Given the description of an element on the screen output the (x, y) to click on. 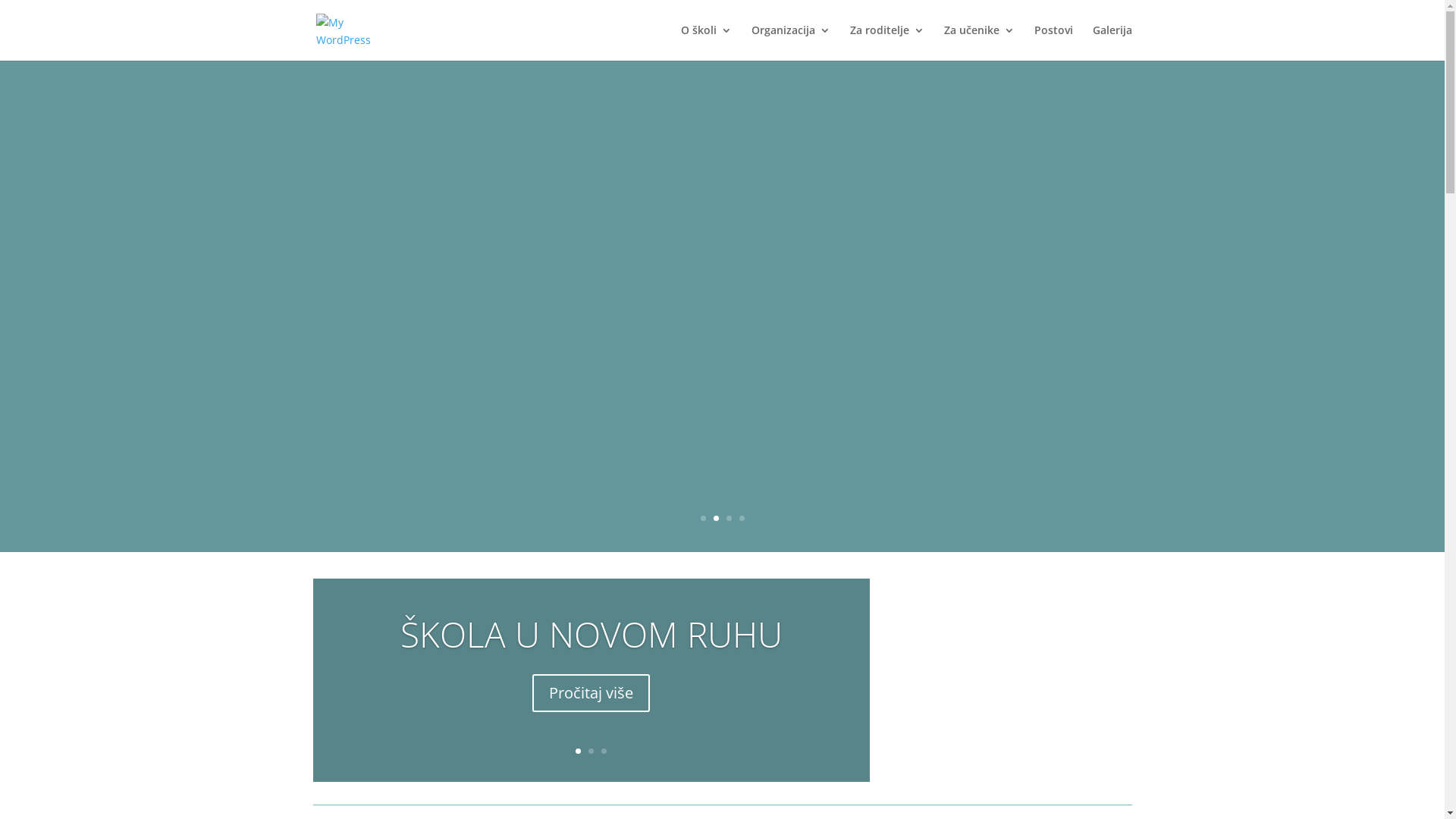
Organizacija Element type: text (789, 42)
Postovi Element type: text (1053, 42)
1 Element type: text (577, 750)
3 Element type: text (603, 750)
3 Element type: text (728, 517)
1 Element type: text (703, 517)
Za roditelje Element type: text (886, 42)
Galerija Element type: text (1111, 42)
4 Element type: text (740, 517)
2 Element type: text (590, 750)
2 Element type: text (715, 517)
